Given the description of an element on the screen output the (x, y) to click on. 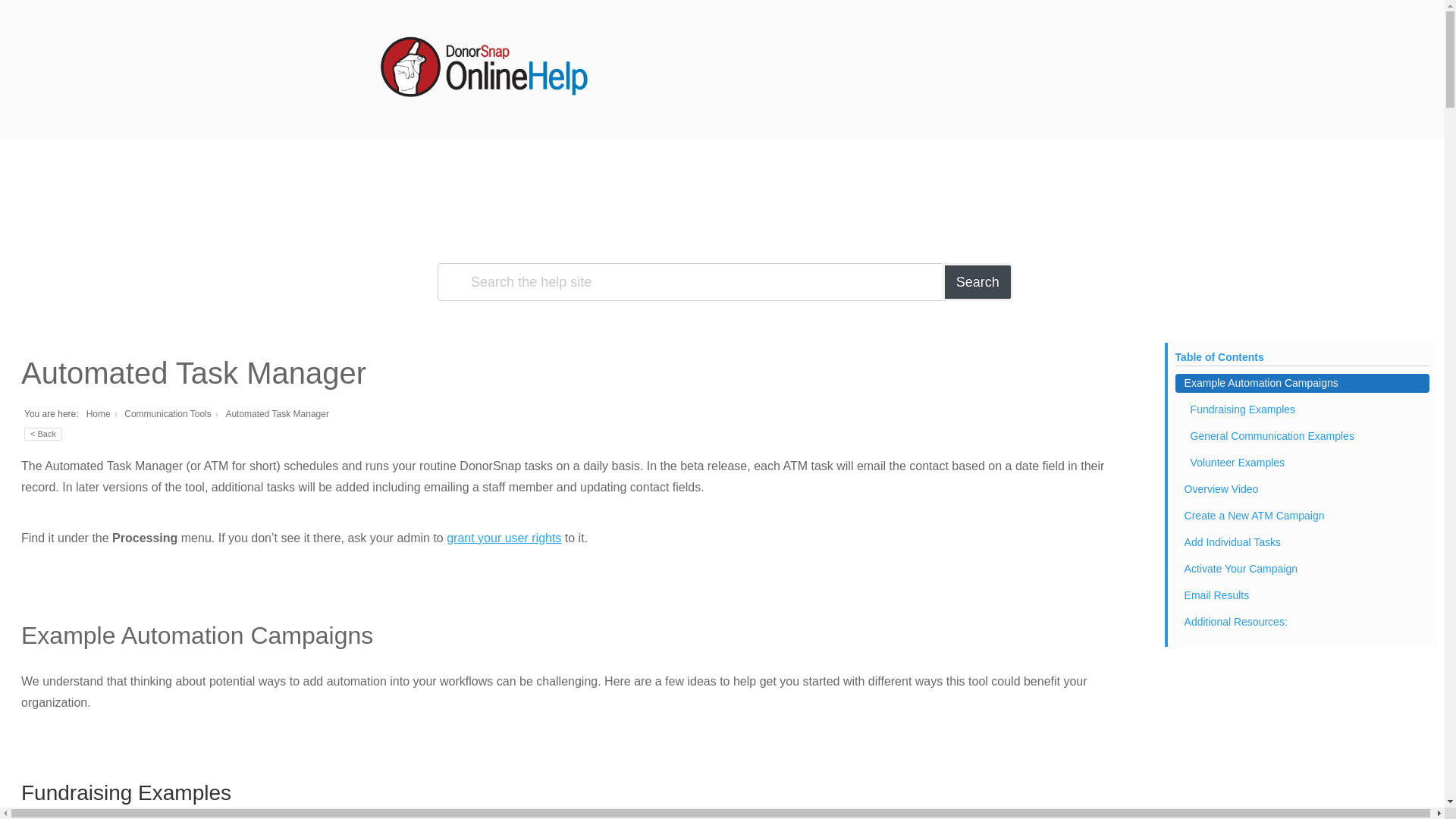
Search (977, 281)
General Communication Examples (1301, 435)
Example Automation Campaigns (1301, 383)
Overview Video (1301, 488)
DONORSNAP SUPPORT (555, 119)
Fundraising Examples (1301, 409)
Add Individual Tasks (1301, 542)
Create a New ATM Campaign (1301, 515)
Activate Your Campaign (1301, 568)
Additional Resources: (1301, 621)
Email Results (1301, 595)
Volunteer Examples (1301, 462)
Communication Tools (167, 413)
Home (97, 413)
grant your user rights (503, 537)
